Given the description of an element on the screen output the (x, y) to click on. 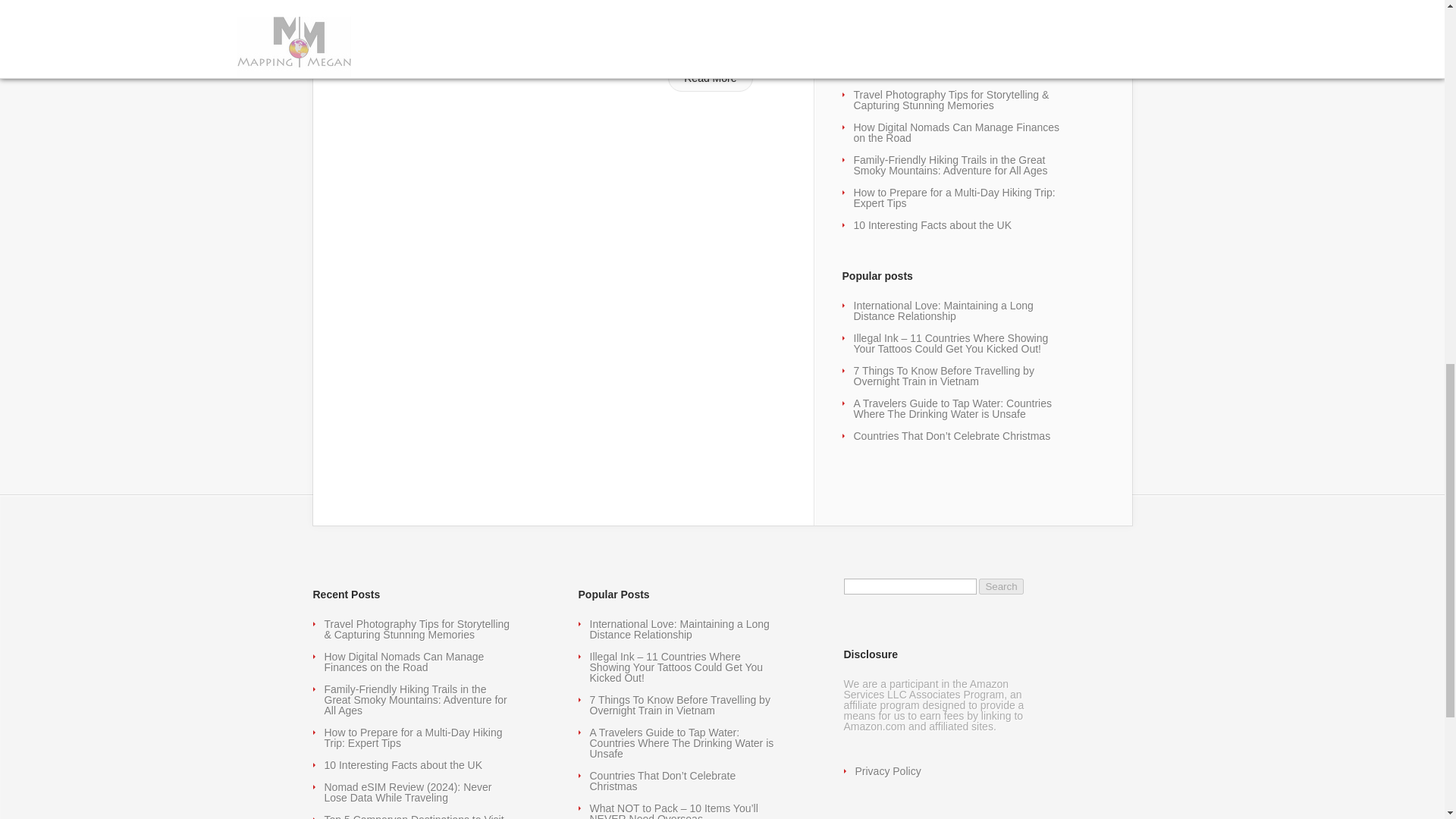
mappingmegan on Pinterest (981, 25)
International Love: Maintaining a Long Distance Relationship (943, 310)
Search (1000, 586)
Permanent link to 10 Interesting Facts about the UK (932, 224)
mappingmeg - YouTube (954, 25)
Connect on Facebook (897, 25)
mappingmegan on Instagram (1009, 25)
Follow mappingmegan on Twitter (925, 25)
